Given the description of an element on the screen output the (x, y) to click on. 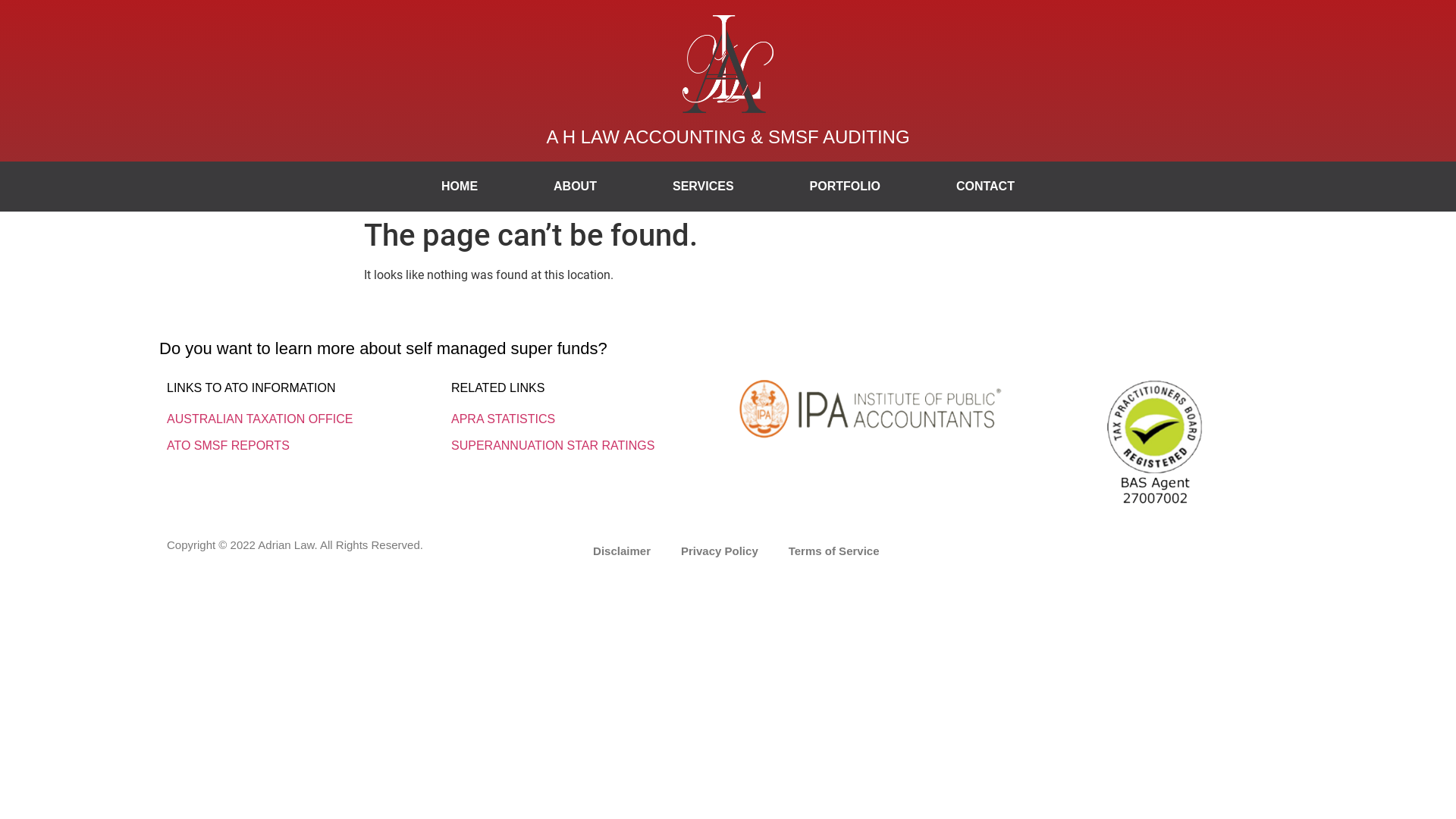
ATO SMSF REPORTS Element type: text (227, 445)
SUPERANNUATION STAR RATINGS Element type: text (552, 445)
SERVICES Element type: text (702, 186)
Terms of Service Element type: text (833, 550)
ABOUT Element type: text (574, 186)
CONTACT Element type: text (985, 186)
PORTFOLIO Element type: text (844, 186)
Disclaimer Element type: text (621, 550)
HOME Element type: text (459, 186)
Privacy Policy Element type: text (719, 550)
APRA STATISTICS Element type: text (503, 418)
AUSTRALIAN TAXATION OFFICE Element type: text (259, 418)
